Given the description of an element on the screen output the (x, y) to click on. 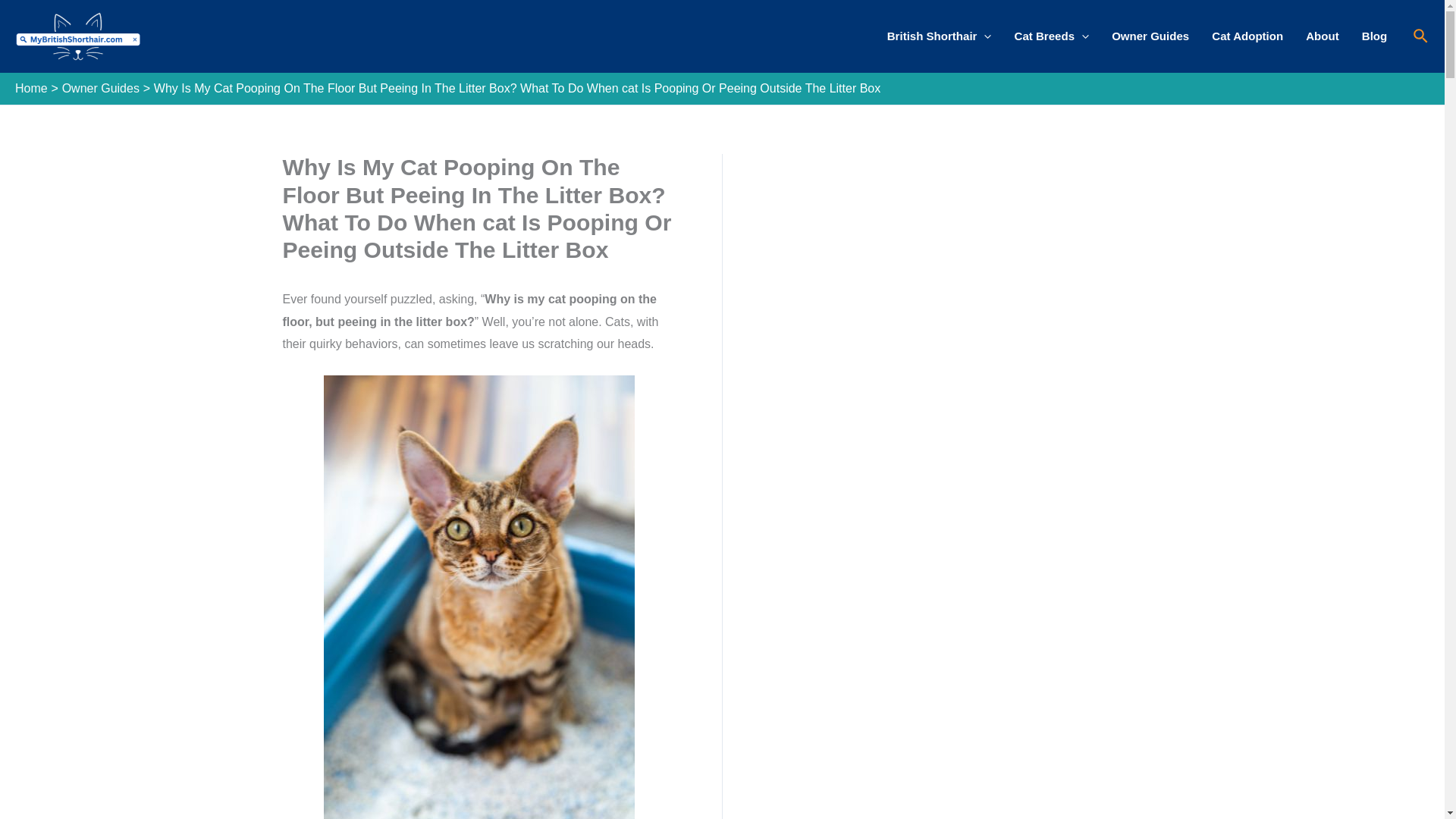
Cat Breeds (1051, 36)
About (1322, 36)
British Shorthair (939, 36)
Cat Adoption (1246, 36)
Blog (1375, 36)
Owner Guides (1149, 36)
